Given the description of an element on the screen output the (x, y) to click on. 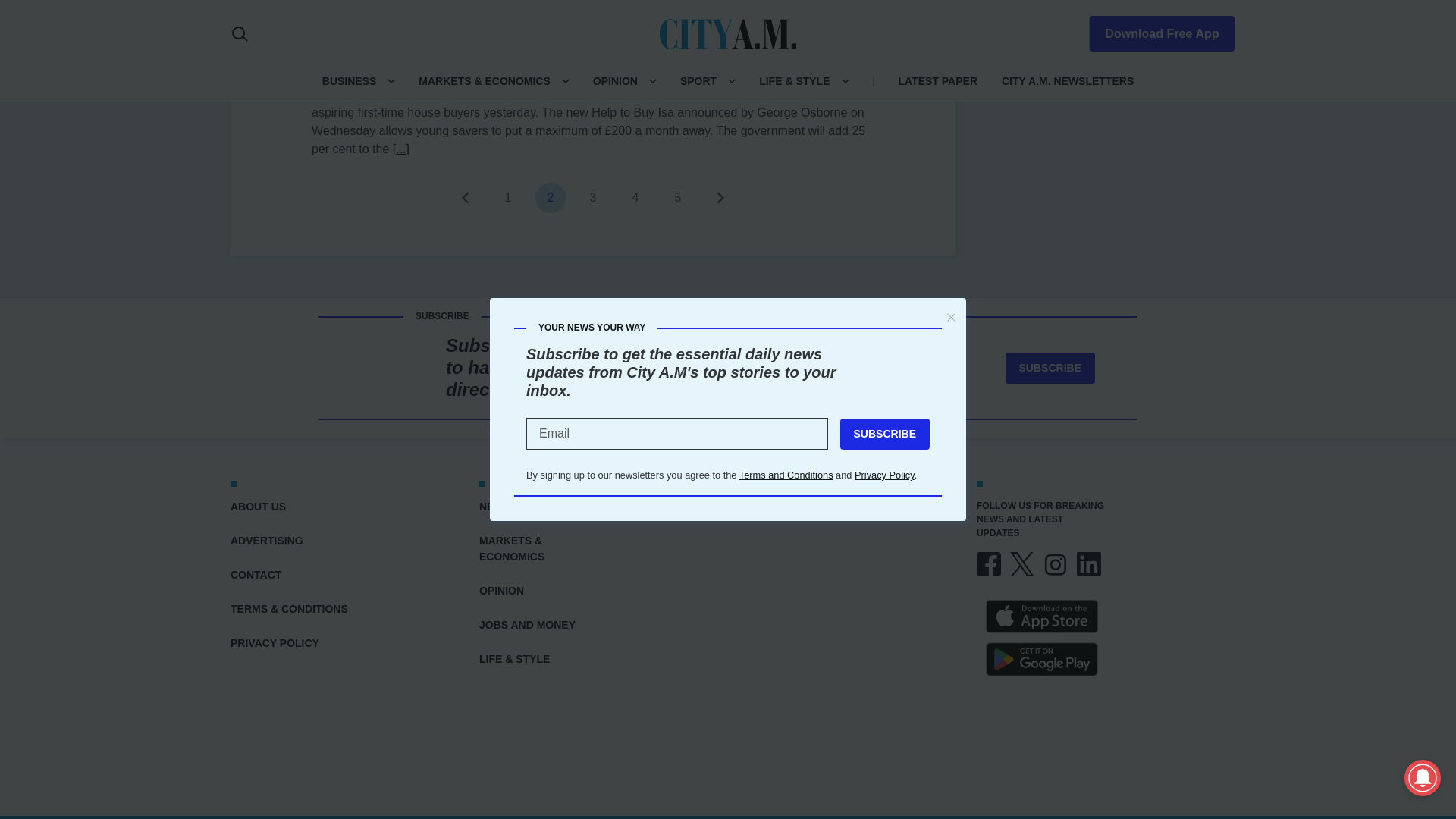
FACEBOOK (988, 564)
X (1021, 564)
LINKEDIN (1088, 564)
INSTAGRAM (1055, 564)
